Given the description of an element on the screen output the (x, y) to click on. 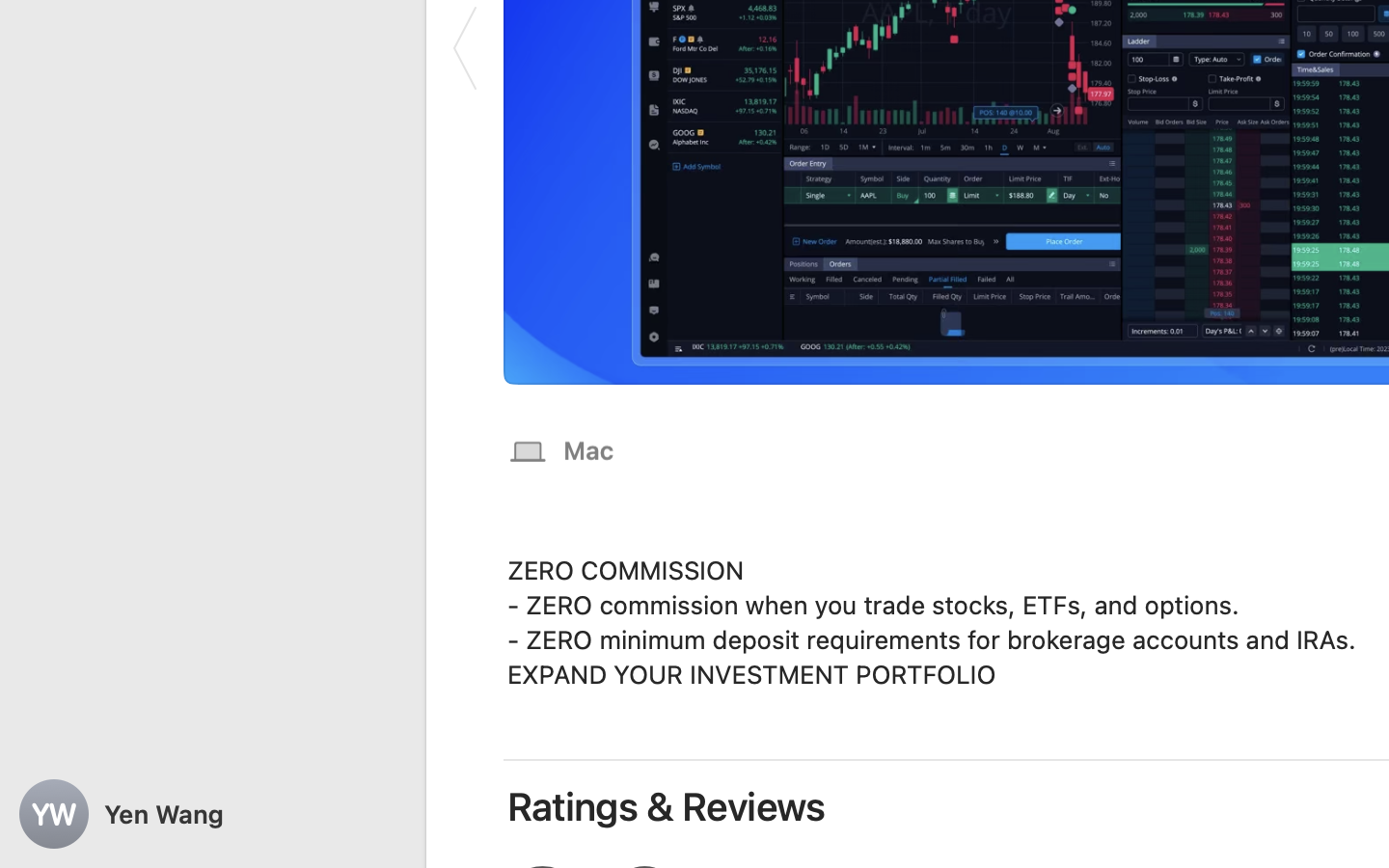
Yen Wang Element type: AXButton (212, 813)
Ratings & Reviews Element type: AXStaticText (667, 806)
​￼￼Mac Element type: AXStaticText (561, 449)
